Given the description of an element on the screen output the (x, y) to click on. 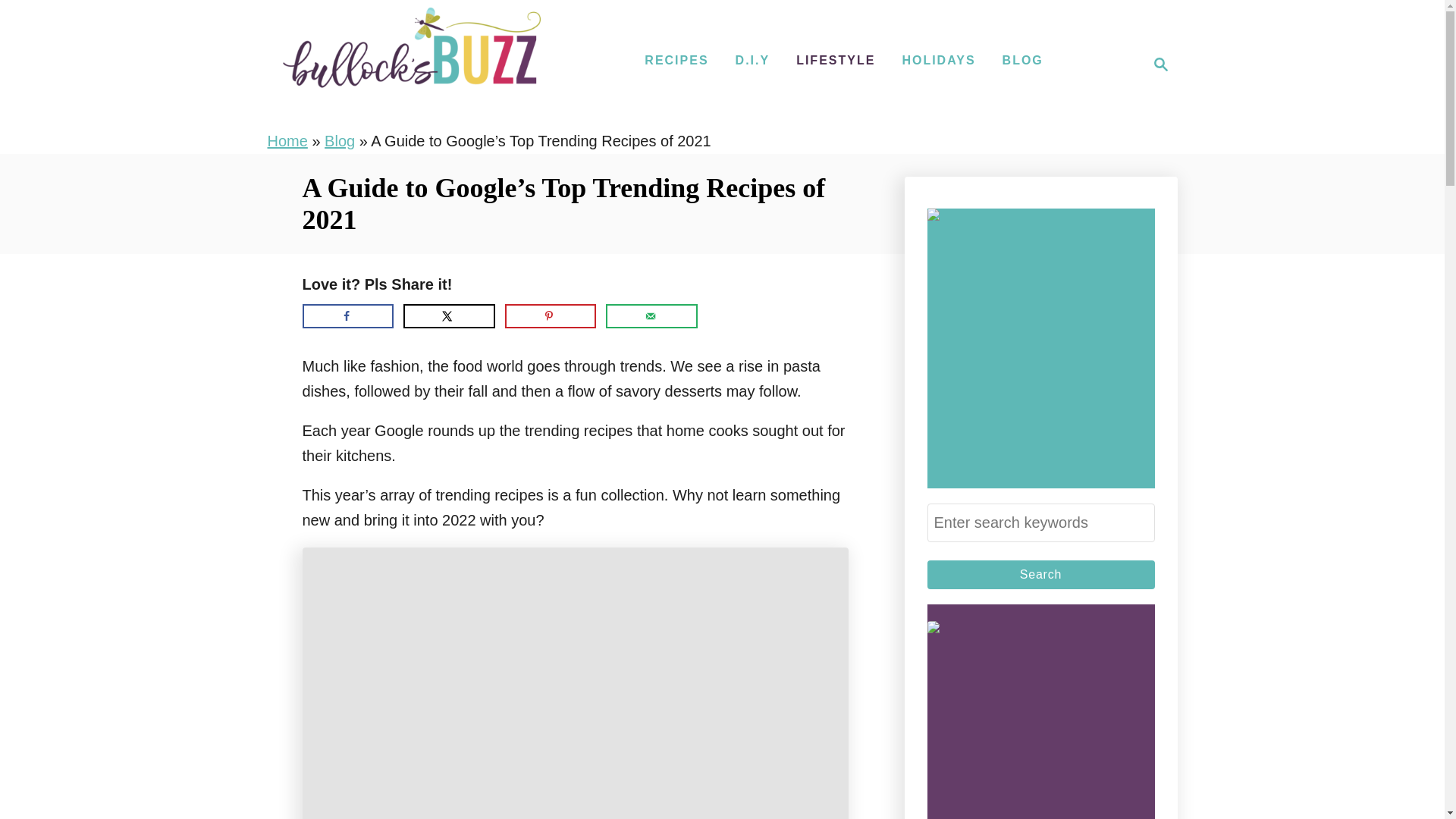
BLOG (1022, 60)
HOLIDAYS (937, 60)
Share on Facebook (347, 315)
Search (1040, 574)
Save to Pinterest (550, 315)
Bullock's Buzz (411, 64)
Share on X (449, 315)
RECIPES (676, 60)
Search for: (1040, 522)
Magnifying Glass (1160, 64)
Blog (1155, 64)
Search (339, 140)
Send over email (1040, 574)
Skip to Content (651, 315)
